Given the description of an element on the screen output the (x, y) to click on. 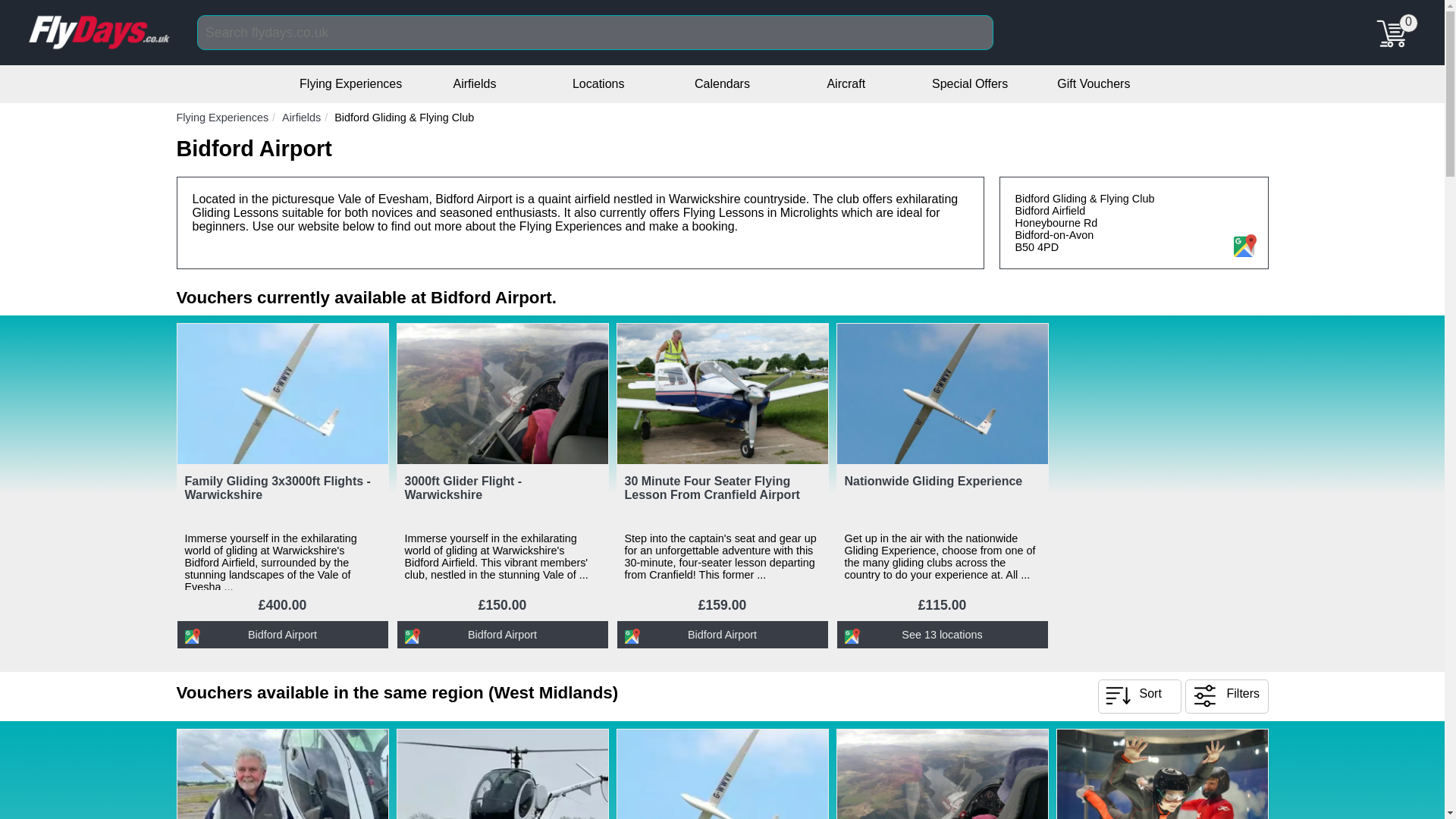
0 (1398, 26)
Gift Vouchers (1093, 83)
Aircraft Expereinces and Vouchers (845, 83)
Aircraft (845, 83)
Special Offers (969, 83)
Flying Special Offer Vouchers (969, 83)
Flying Gift Vouchers (1093, 83)
